Given the description of an element on the screen output the (x, y) to click on. 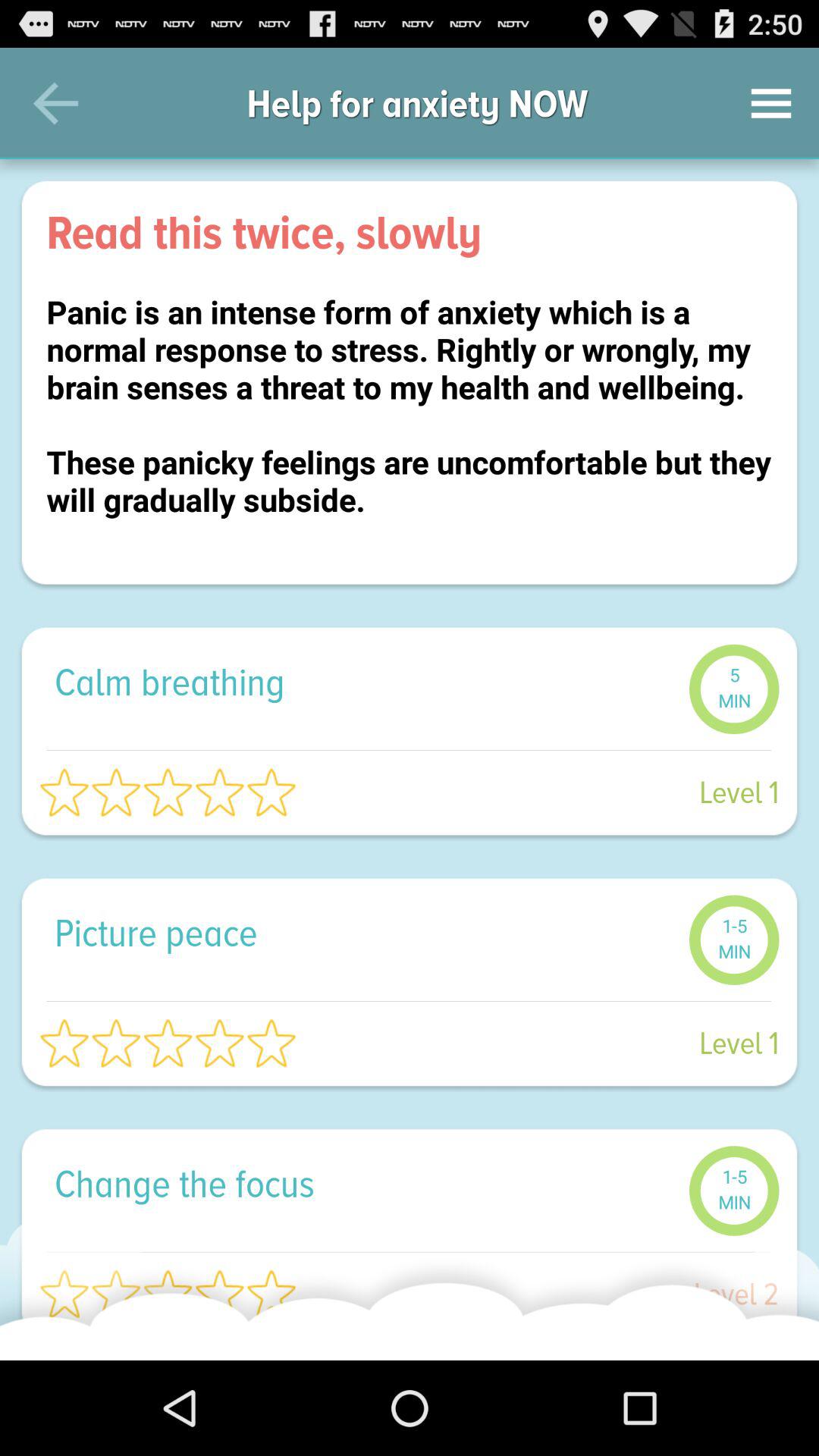
tap the item next to help for anxiety item (55, 103)
